Given the description of an element on the screen output the (x, y) to click on. 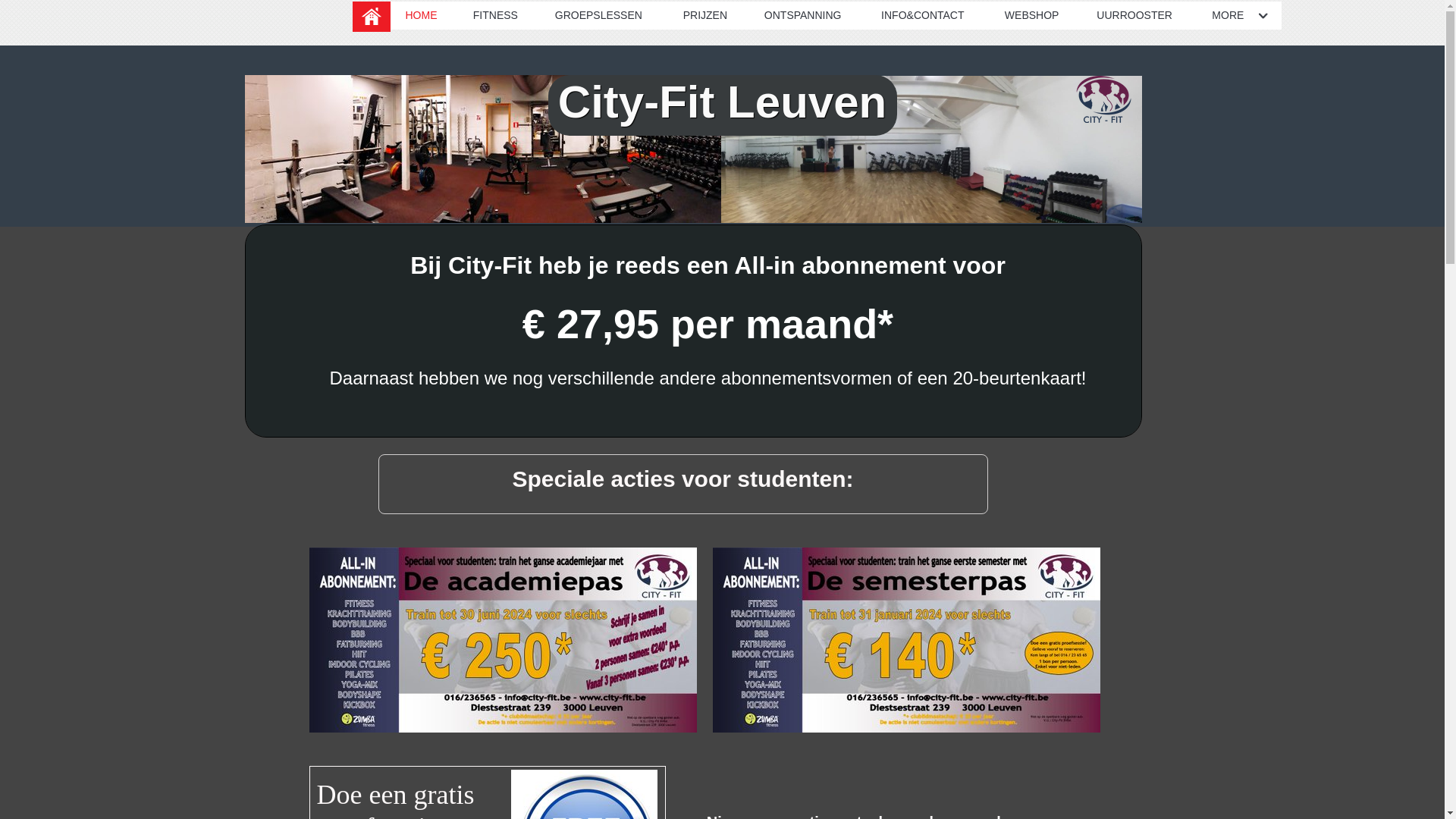
INFO&CONTACT Element type: text (927, 15)
FITNESS Element type: text (498, 15)
HOME Element type: text (423, 15)
PRIJZEN Element type: text (708, 15)
GROEPSLESSEN Element type: text (603, 15)
ONTSPANNING Element type: text (807, 15)
MORE Element type: text (1238, 15)
WEBSHOP Element type: text (1035, 15)
UURROOSTER Element type: text (1138, 15)
